Given the description of an element on the screen output the (x, y) to click on. 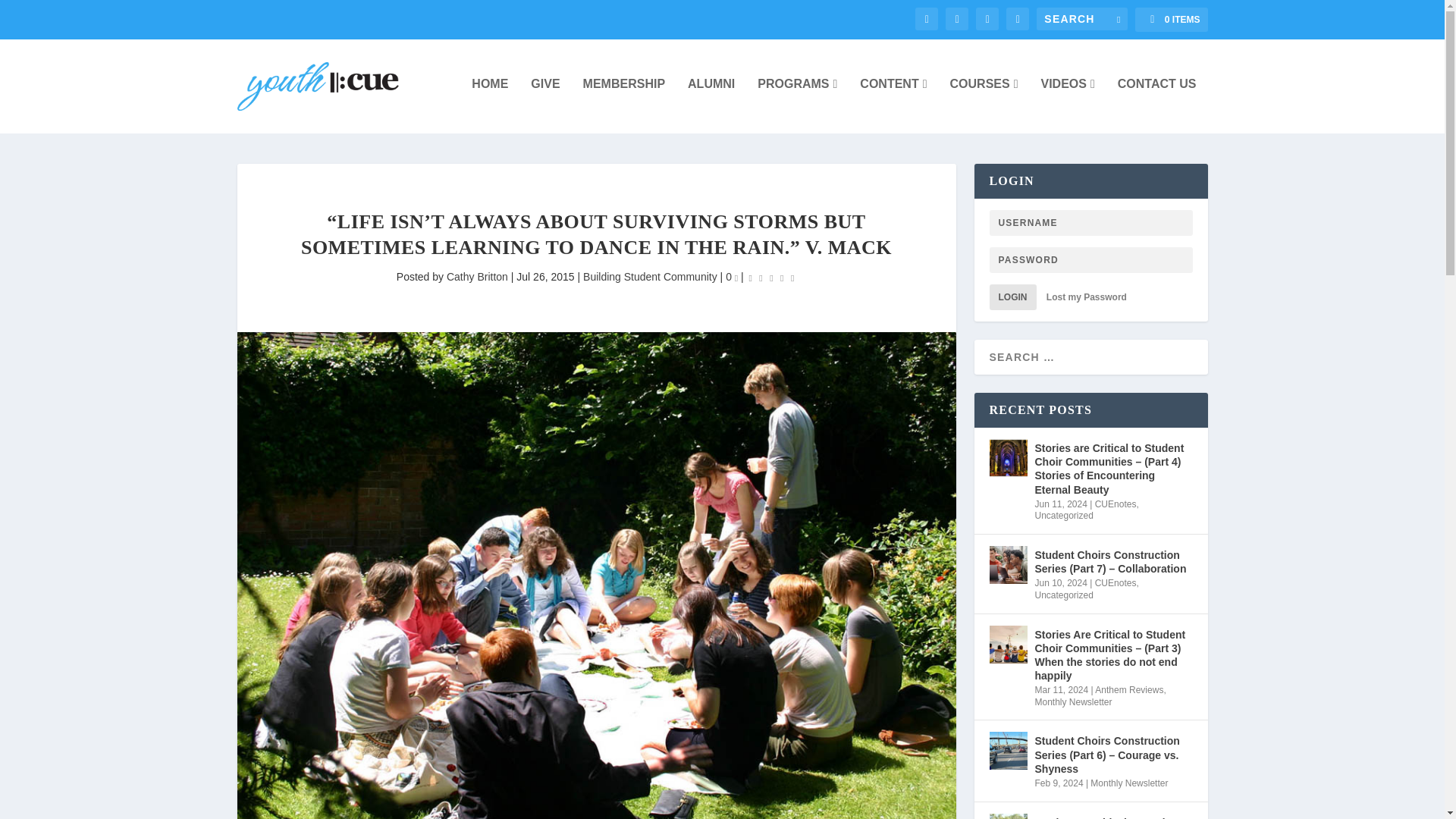
CONTACT US (1157, 104)
Posts by Cathy Britton (477, 276)
VIDEOS (1067, 104)
PROGRAMS (797, 104)
Rating: 0.00 (771, 277)
Cathy Britton (477, 276)
0 (731, 276)
0 Items in Cart (1171, 19)
0 ITEMS (1171, 19)
Building Student Community (650, 276)
CONTENT (893, 104)
MEMBERSHIP (624, 104)
Search for: (1081, 18)
COURSES (983, 104)
